Given the description of an element on the screen output the (x, y) to click on. 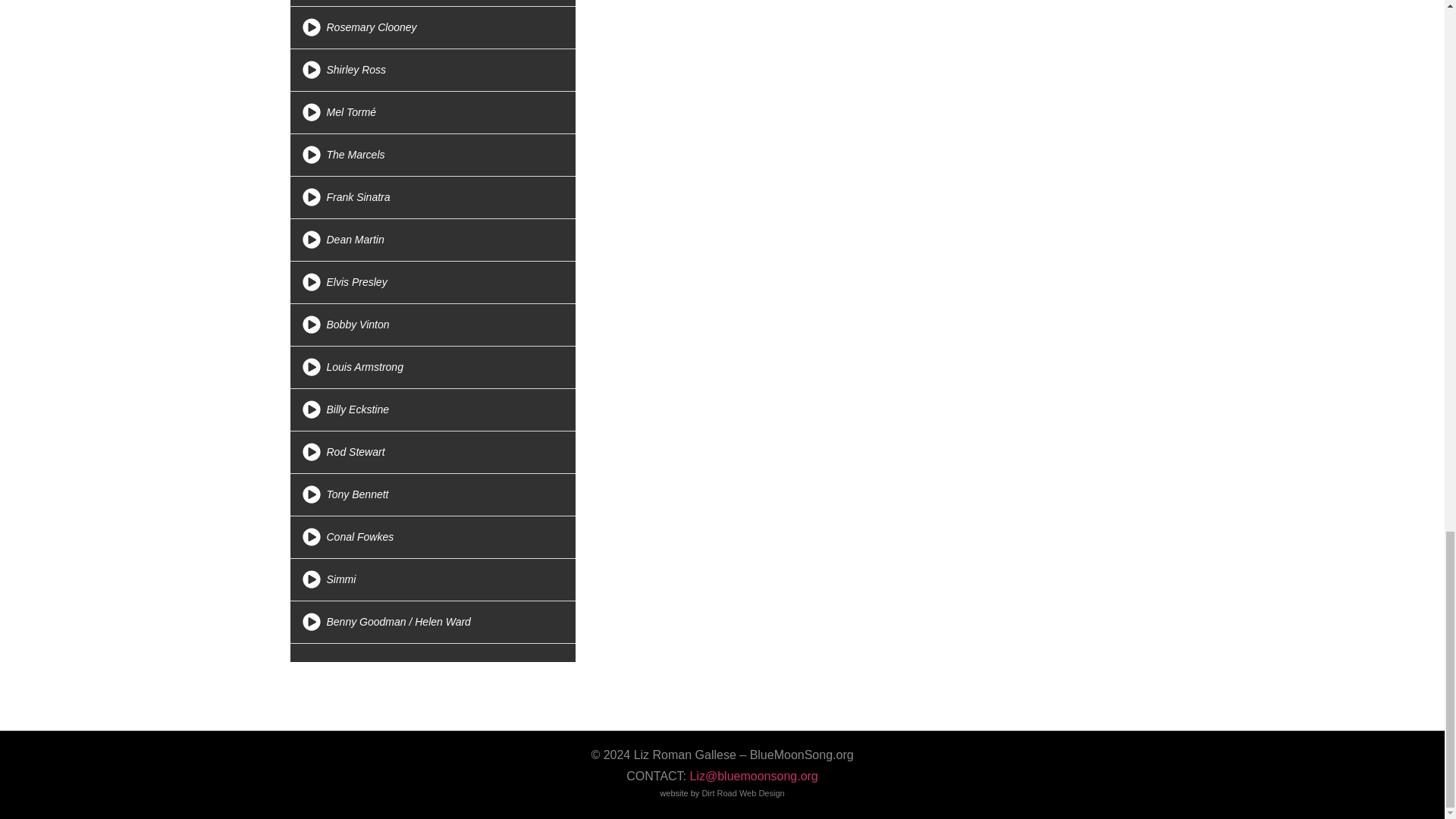
Frank Sinatra (358, 196)
Dean Martin (355, 239)
Rosemary Clooney (371, 27)
The Marcels (355, 154)
Shirley Ross (355, 69)
